Given the description of an element on the screen output the (x, y) to click on. 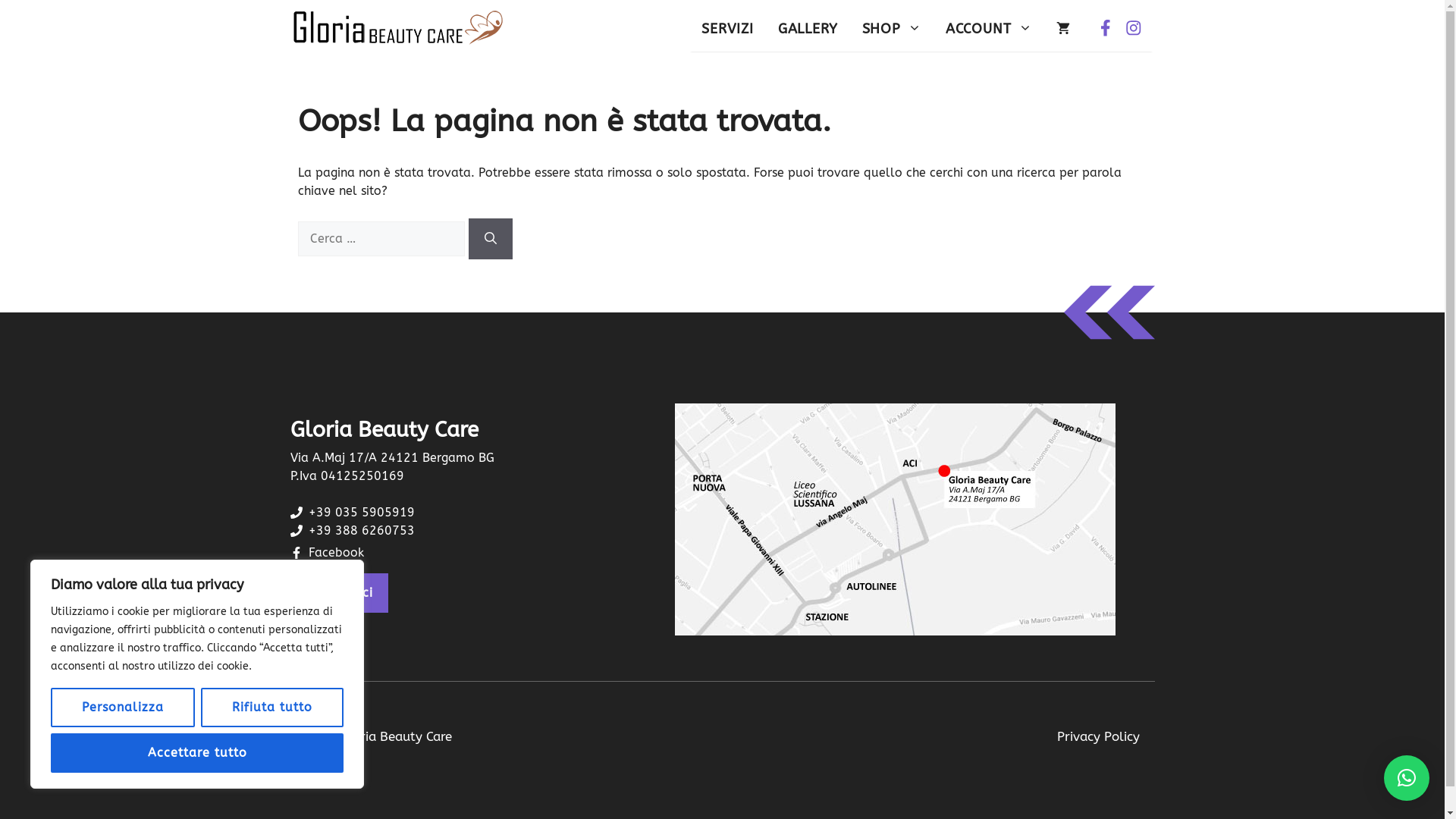
Facebook Element type: text (335, 552)
Accettare tutto Element type: text (196, 752)
SHOP Element type: text (890, 28)
+39 035 5905919 Element type: text (360, 512)
Rifiuta tutto Element type: text (271, 707)
Privacy Policy Element type: text (1098, 736)
SERVIZI Element type: text (727, 28)
+39 388 6260753 Element type: text (360, 530)
Ricerca per: Element type: hover (380, 238)
View your shopping cart Element type: hover (1063, 28)
ACCOUNT Element type: text (988, 28)
Personalizza Element type: text (122, 707)
Contattaci Element type: text (338, 592)
GALLERY Element type: text (807, 28)
